Given the description of an element on the screen output the (x, y) to click on. 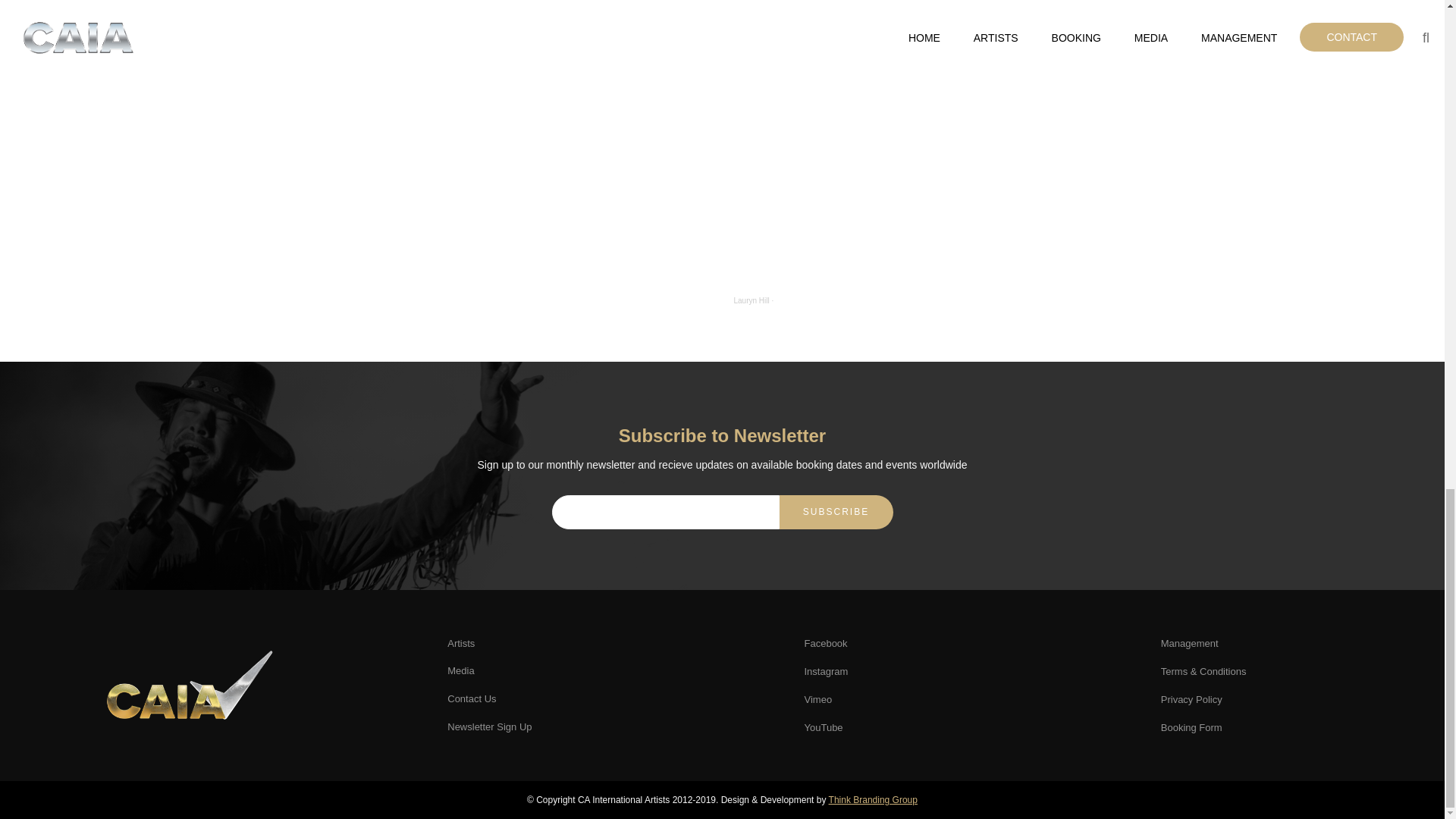
Lauryn Hill (751, 300)
Instagram (825, 671)
Booking Form (1191, 727)
Subscribe (835, 512)
Artists (460, 643)
Vimeo (817, 699)
Media (460, 670)
Lauryn Hill (751, 300)
YouTube (823, 727)
Privacy Policy (1191, 699)
